Given the description of an element on the screen output the (x, y) to click on. 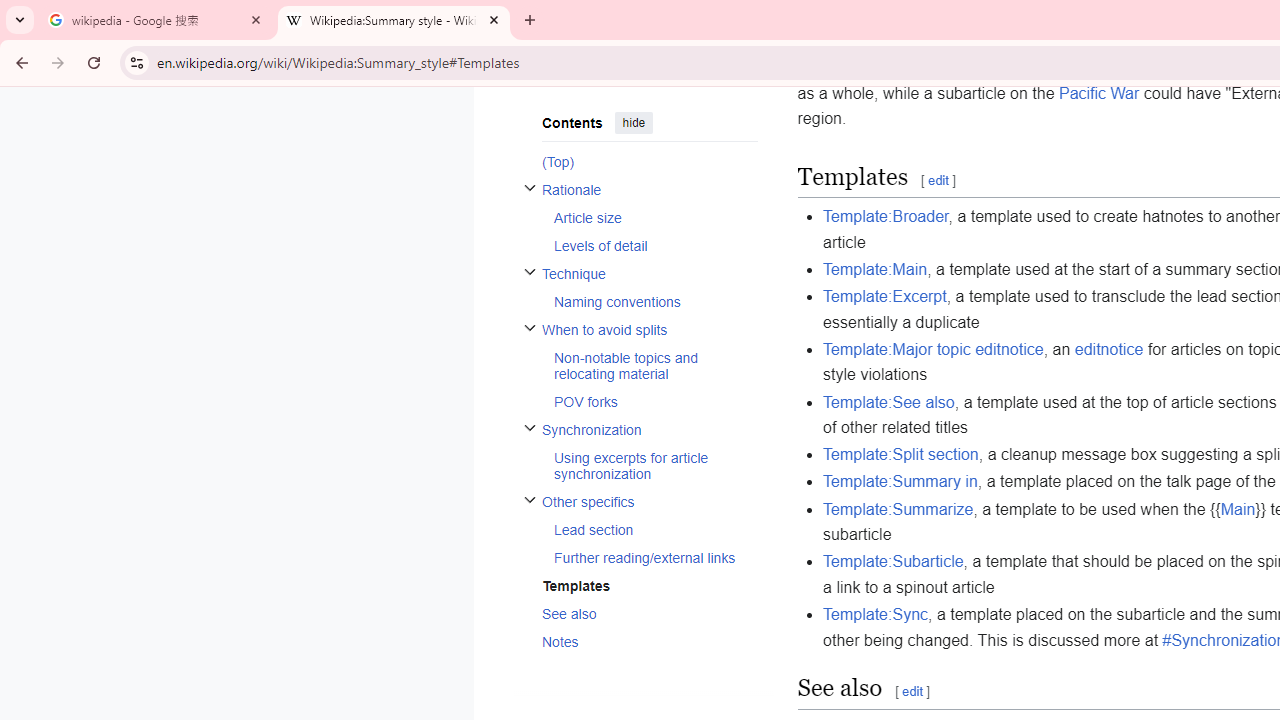
AutomationID: toc-Levels_of_detail (649, 245)
Toggle Technique subsection (529, 270)
AutomationID: toc-Other_specifics (642, 528)
Using excerpts for article synchronization (654, 465)
